Given the description of an element on the screen output the (x, y) to click on. 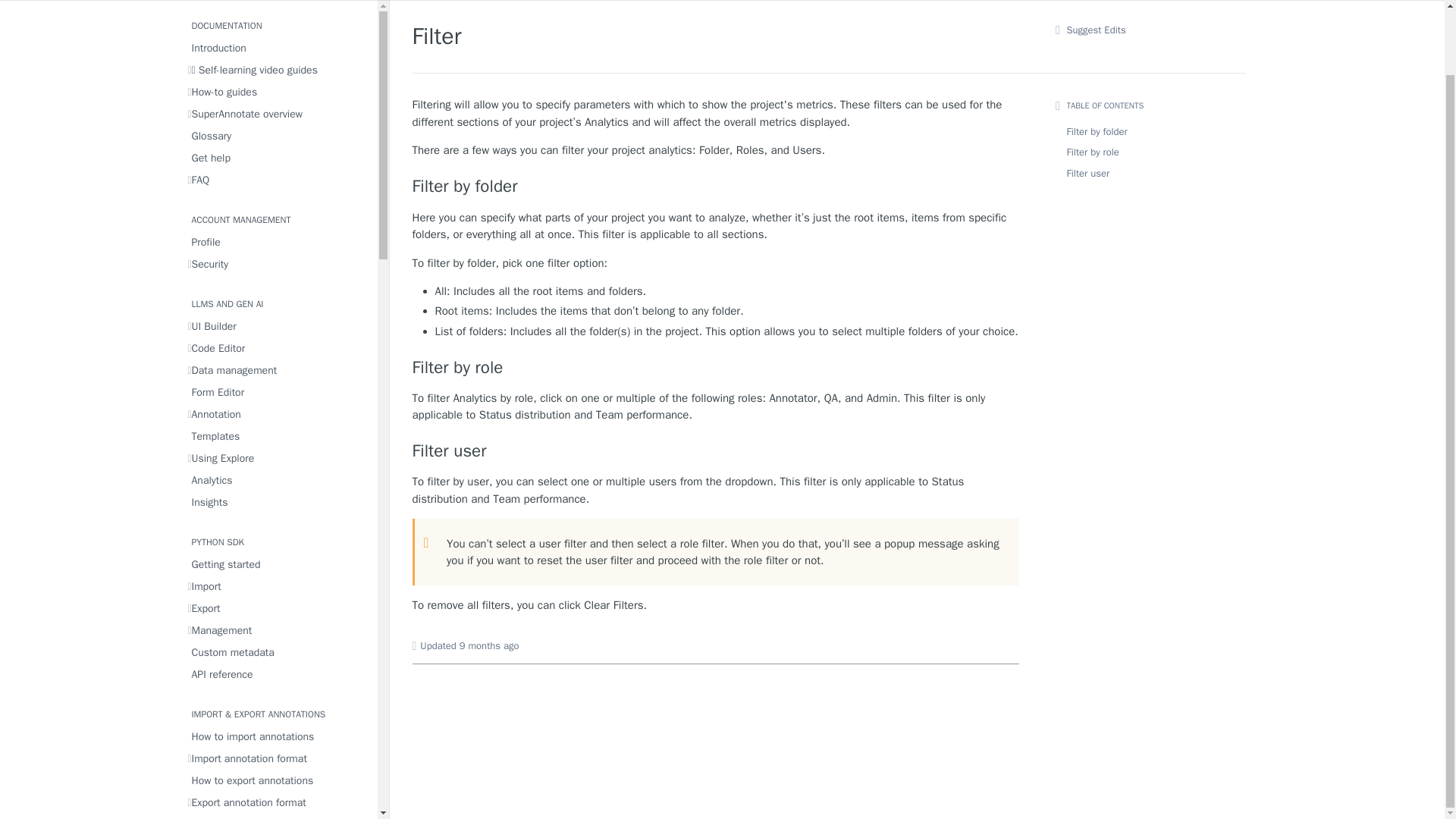
Filter user (715, 450)
How-to guides (277, 91)
Get help (277, 158)
FAQ (277, 179)
Filter by folder (715, 186)
Introduction (277, 47)
Filter by role (715, 367)
SuperAnnotate overview (277, 114)
Glossary (277, 136)
